Given the description of an element on the screen output the (x, y) to click on. 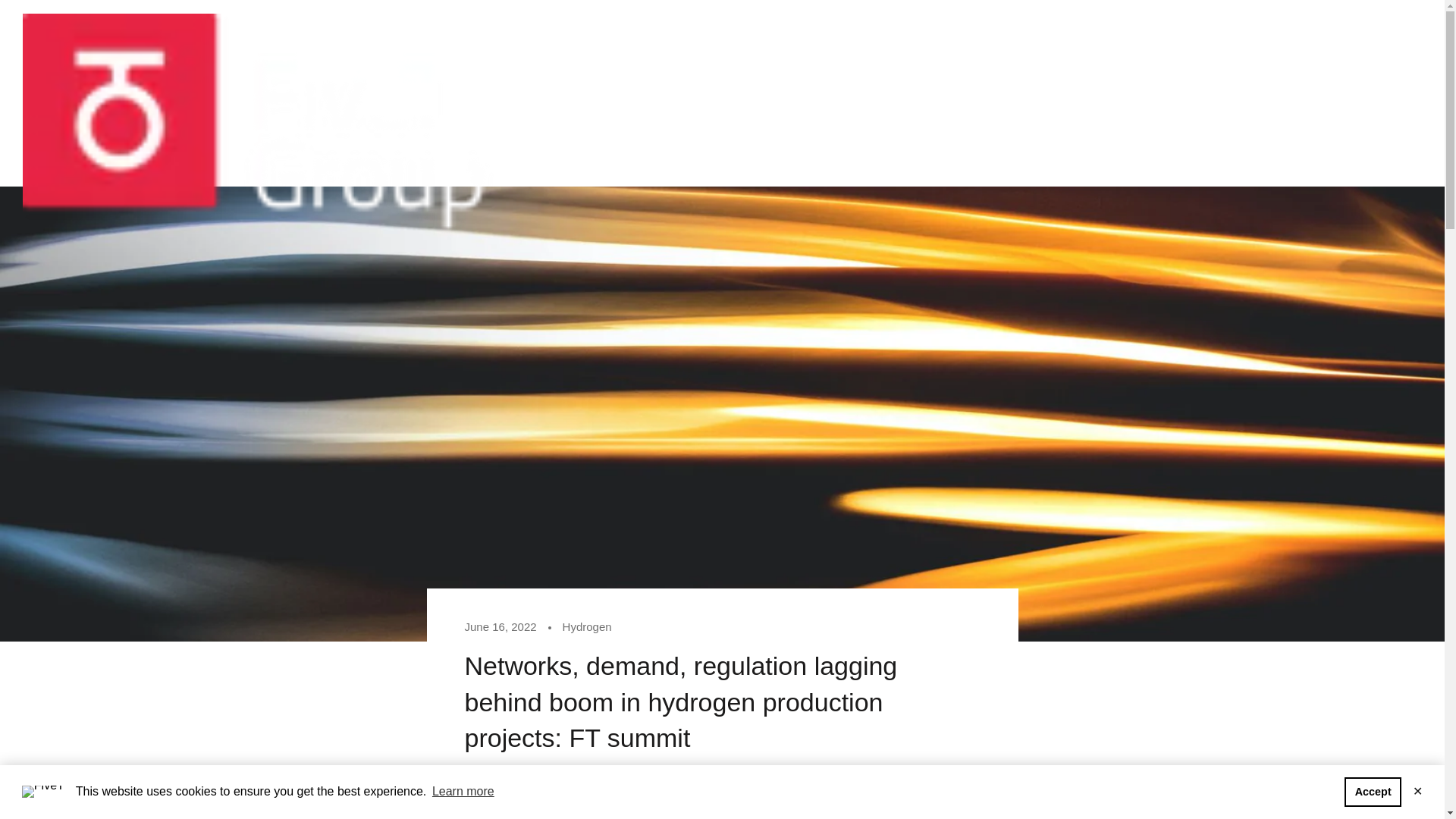
Accept (1371, 791)
CAREER (1257, 112)
HOME (840, 112)
NEWS (1129, 112)
Learn more (462, 791)
CONTACT (850, 140)
SUBSIDIARIES (984, 112)
